Given the description of an element on the screen output the (x, y) to click on. 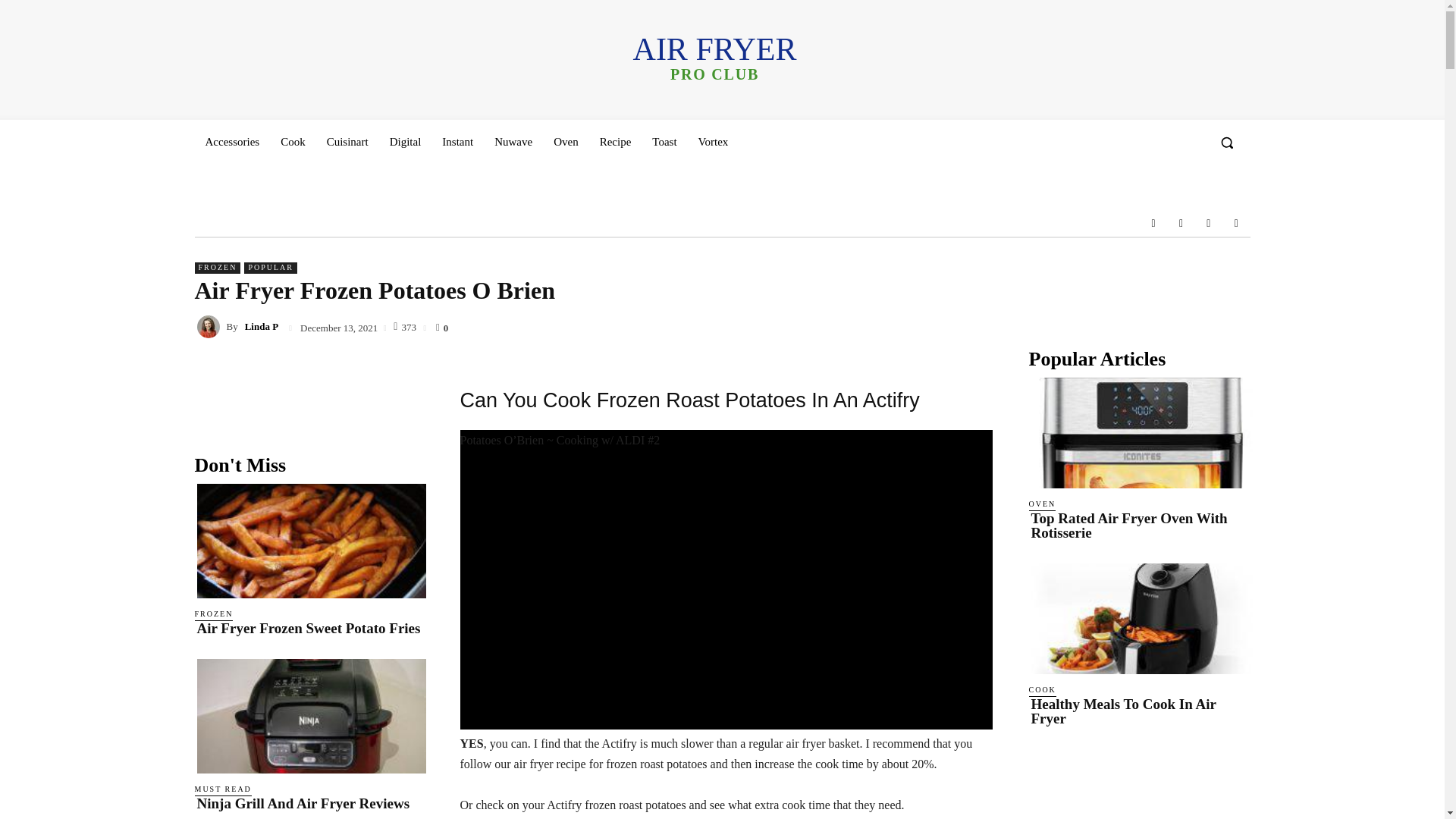
Recipe (615, 141)
Toast (664, 141)
Oven (566, 141)
Digital (713, 57)
Instagram (405, 141)
VKontakte (1180, 222)
Cuisinart (1209, 222)
Youtube (346, 141)
Vortex (1236, 222)
Nuwave (713, 141)
Instant (513, 141)
Facebook (456, 141)
Accessories (1153, 222)
Cook (231, 141)
